Given the description of an element on the screen output the (x, y) to click on. 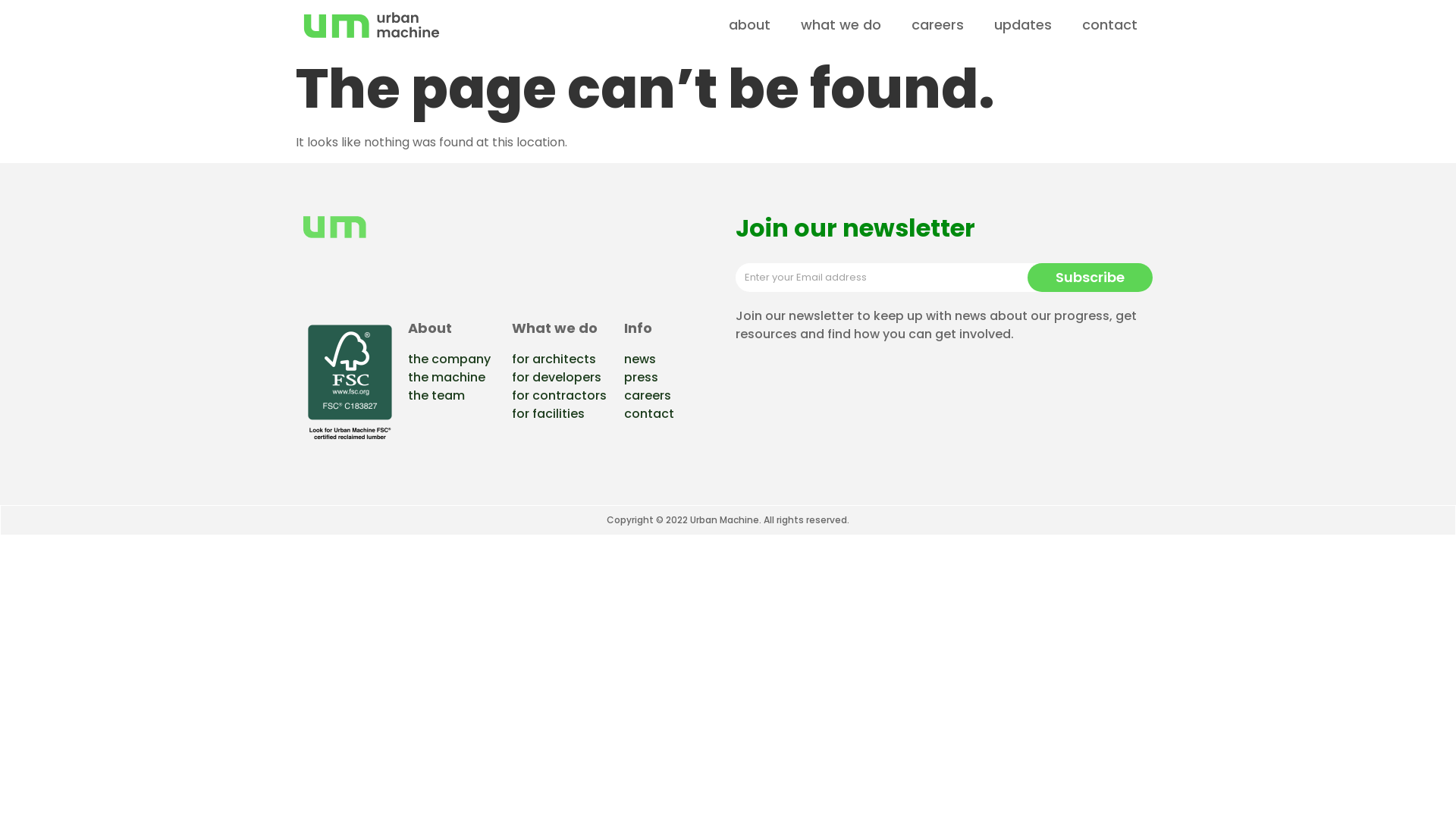
contact Element type: text (648, 413)
careers Element type: text (646, 395)
contact Element type: text (1109, 24)
the company Element type: text (448, 358)
for contractors Element type: text (558, 395)
the team Element type: text (435, 395)
about Element type: text (749, 24)
what we do Element type: text (840, 24)
for developers Element type: text (556, 376)
the machine Element type: text (446, 376)
for architects Element type: text (553, 358)
Subscribe Element type: text (1089, 277)
careers Element type: text (937, 24)
press Element type: text (640, 376)
news Element type: text (639, 358)
for facilities Element type: text (547, 413)
updates Element type: text (1022, 24)
